Given the description of an element on the screen output the (x, y) to click on. 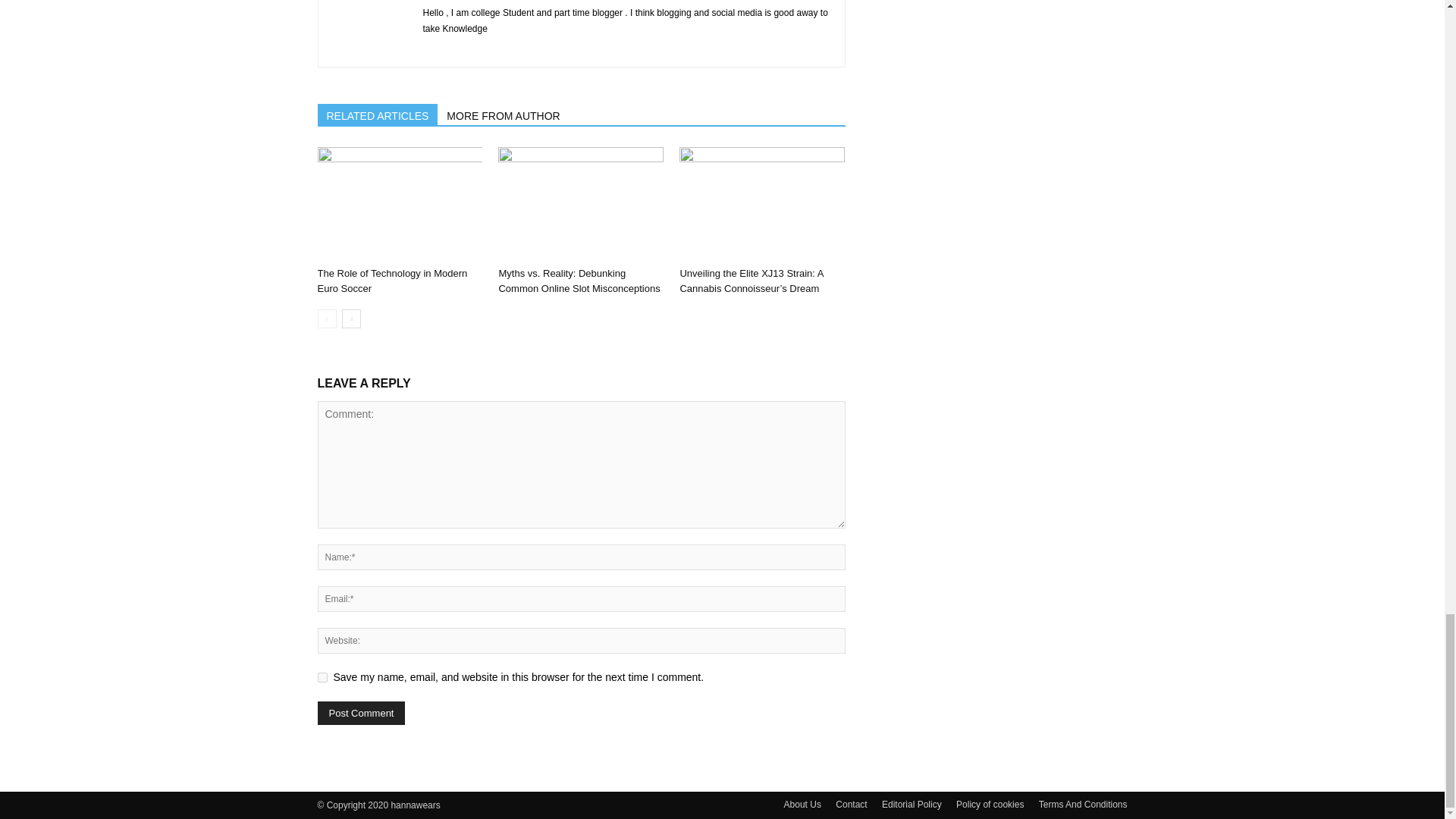
The Role of Technology in Modern Euro Soccer (399, 204)
Post Comment (360, 712)
yes (321, 677)
The Role of Technology in Modern Euro Soccer (392, 280)
